Given the description of an element on the screen output the (x, y) to click on. 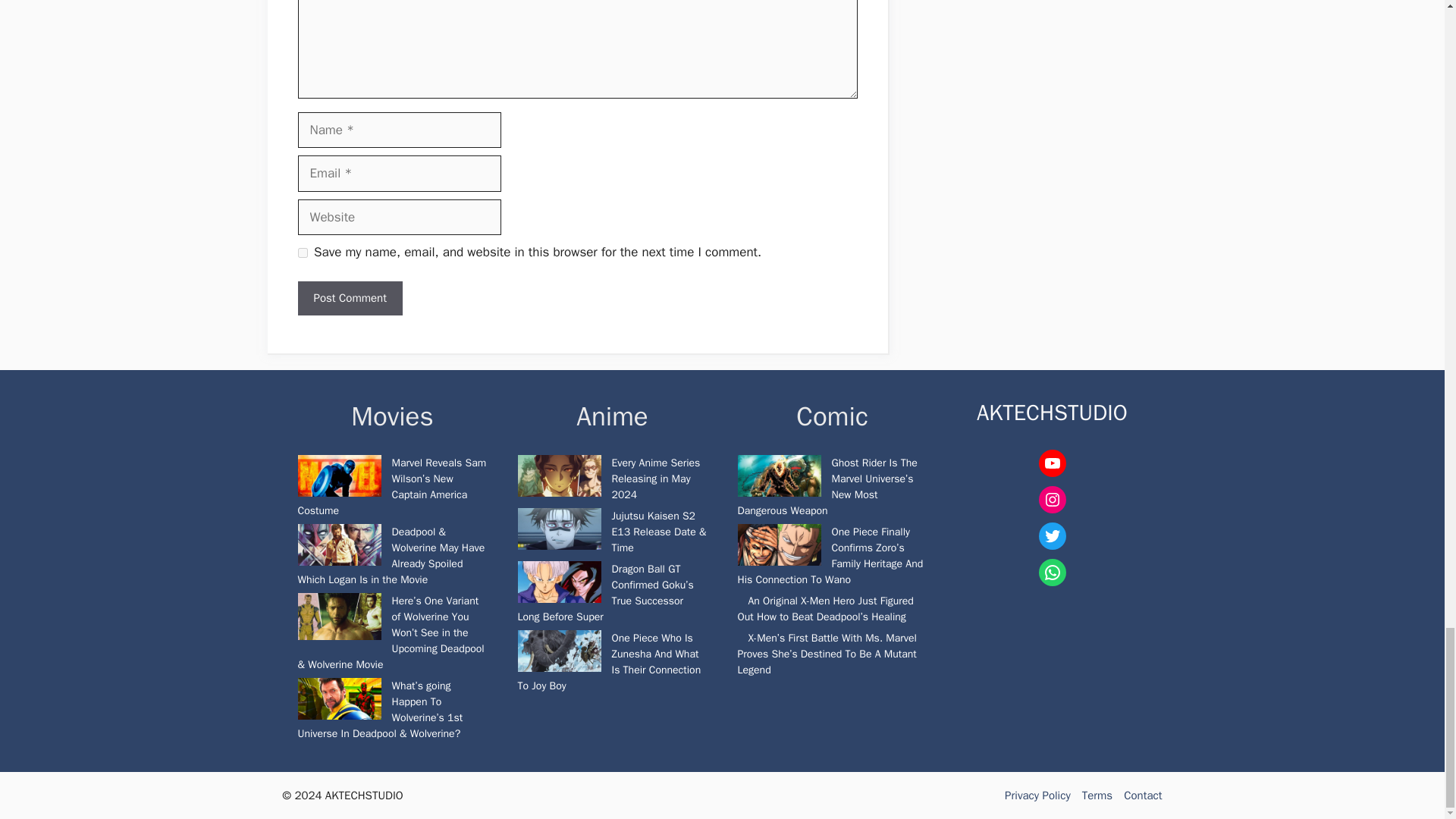
Post Comment (349, 298)
Post Comment (349, 298)
yes (302, 252)
